Given the description of an element on the screen output the (x, y) to click on. 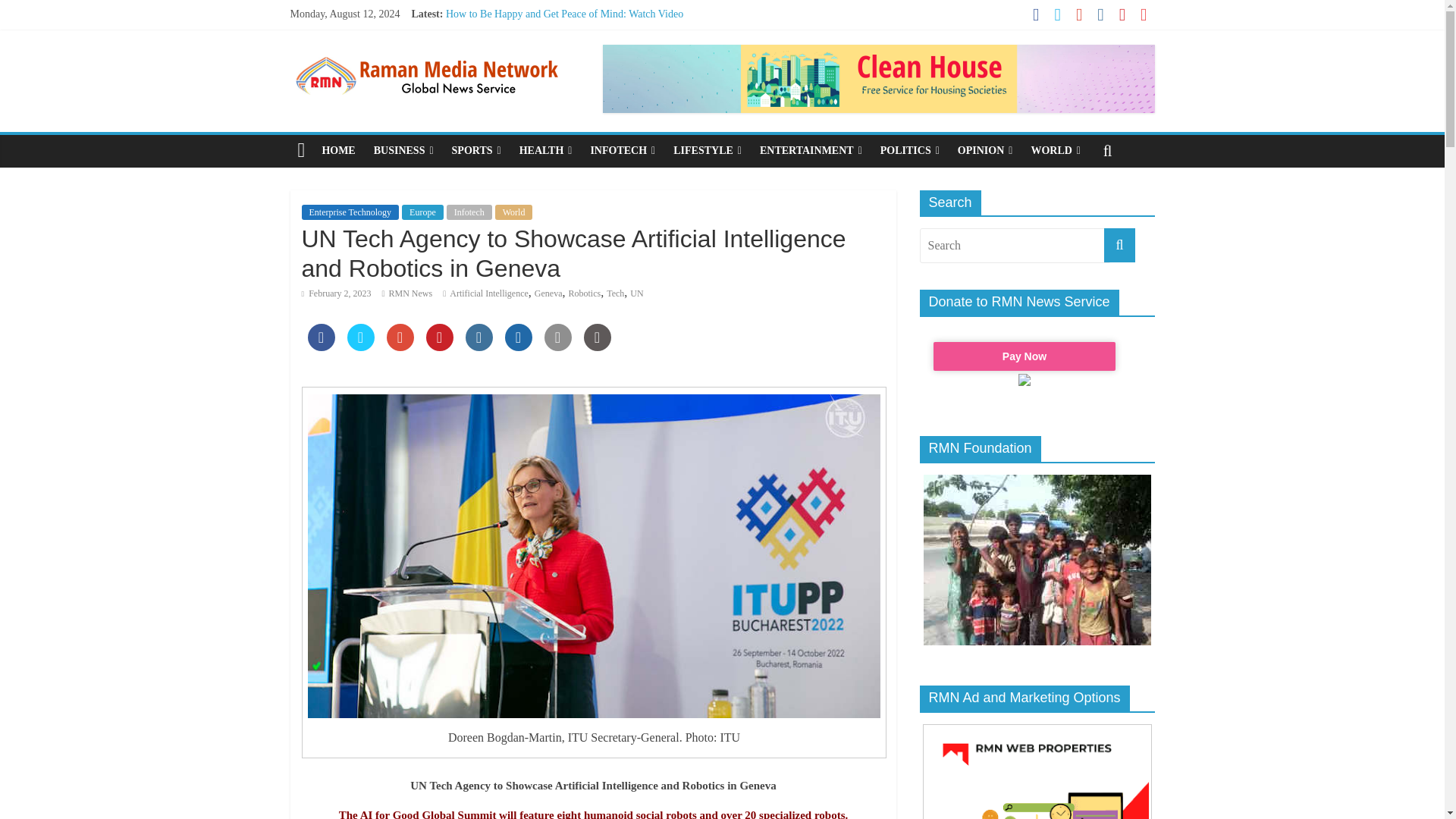
UN Expert Denounces Killing of Journalists in Gaza (557, 48)
RMN News (410, 293)
HOME (338, 151)
11:36 AM (336, 293)
SPORTS (476, 151)
INFOTECH (621, 151)
Manish Sisodia Gets Bail, Arvind Kejriwal to Stay in Jail (566, 64)
